Given the description of an element on the screen output the (x, y) to click on. 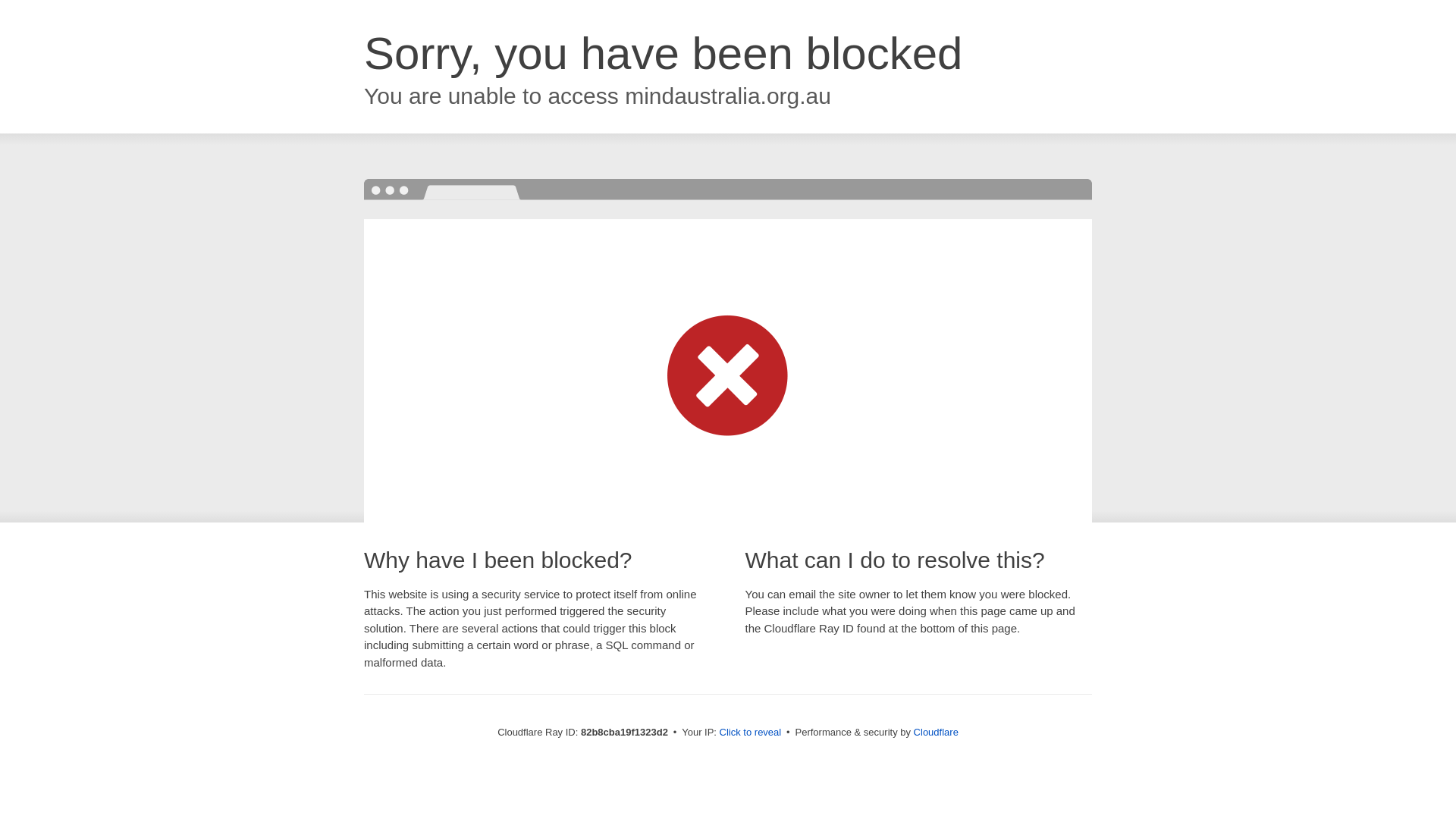
Cloudflare Element type: text (935, 731)
Click to reveal Element type: text (750, 732)
